Given the description of an element on the screen output the (x, y) to click on. 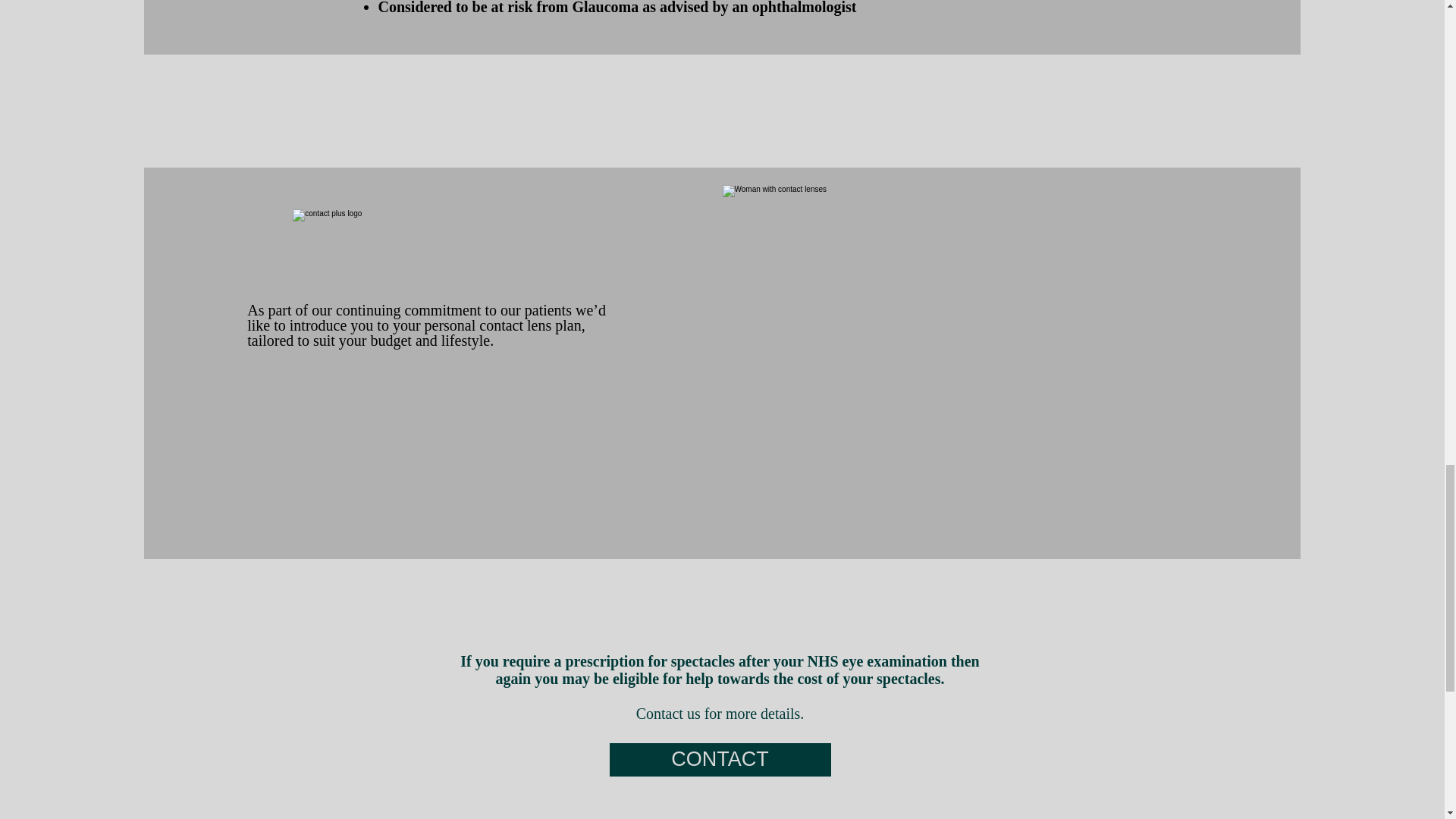
CONTACT (720, 759)
